Given the description of an element on the screen output the (x, y) to click on. 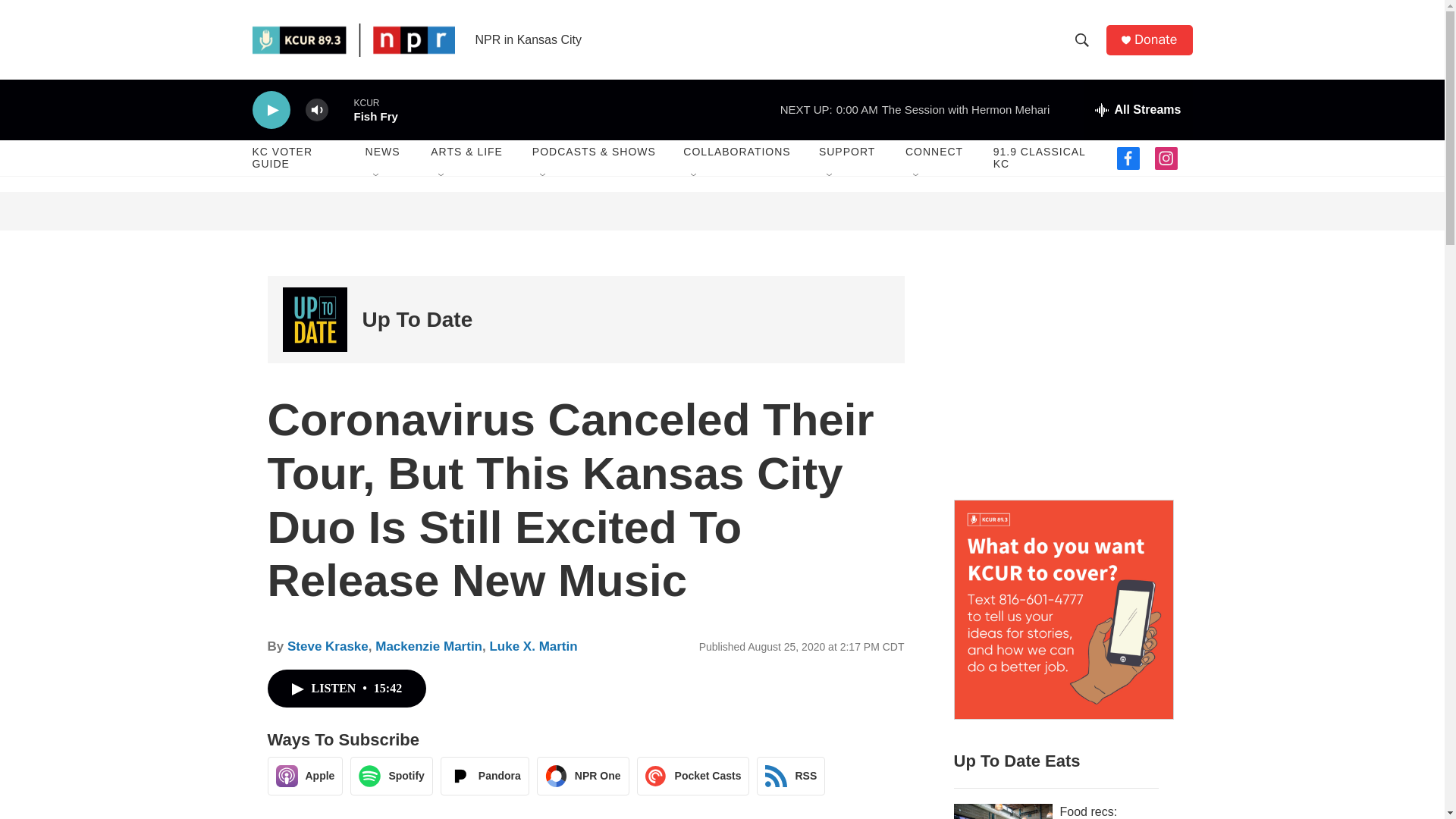
3rd party ad content (721, 210)
3rd party ad content (1062, 371)
